Given the description of an element on the screen output the (x, y) to click on. 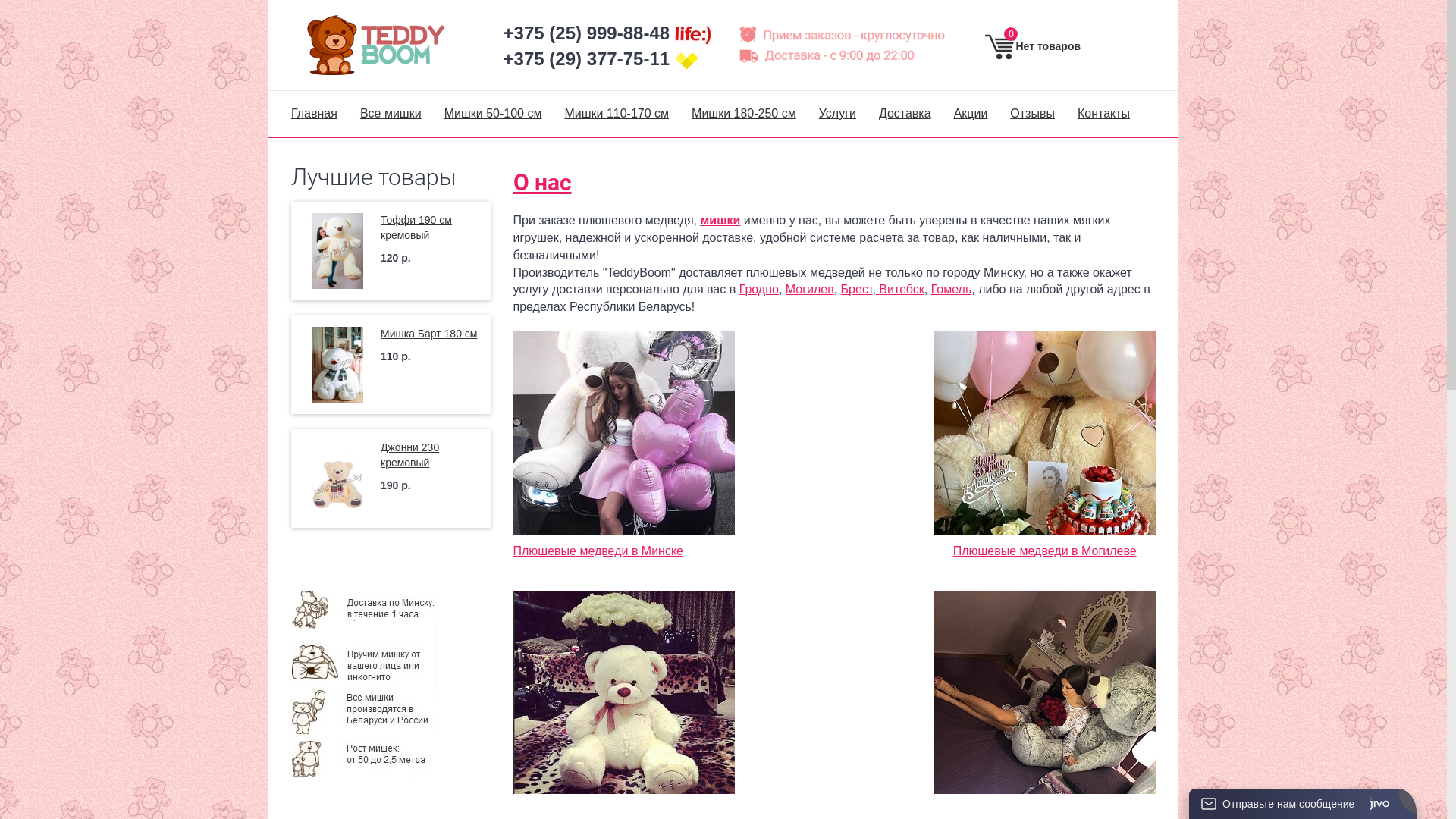
Teddyboom.by Element type: hover (385, 45)
